Given the description of an element on the screen output the (x, y) to click on. 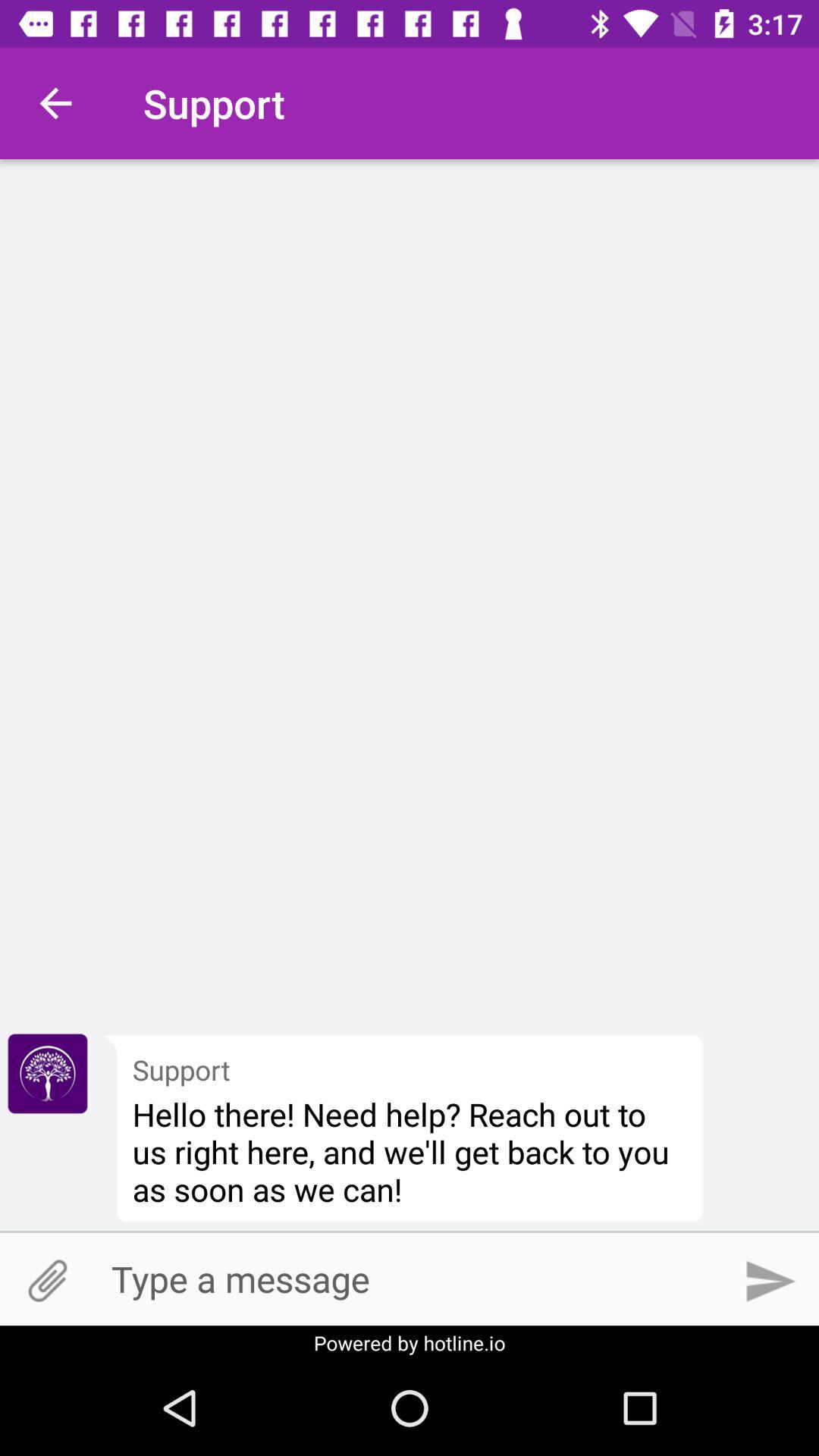
press the icon next to the support item (55, 103)
